Given the description of an element on the screen output the (x, y) to click on. 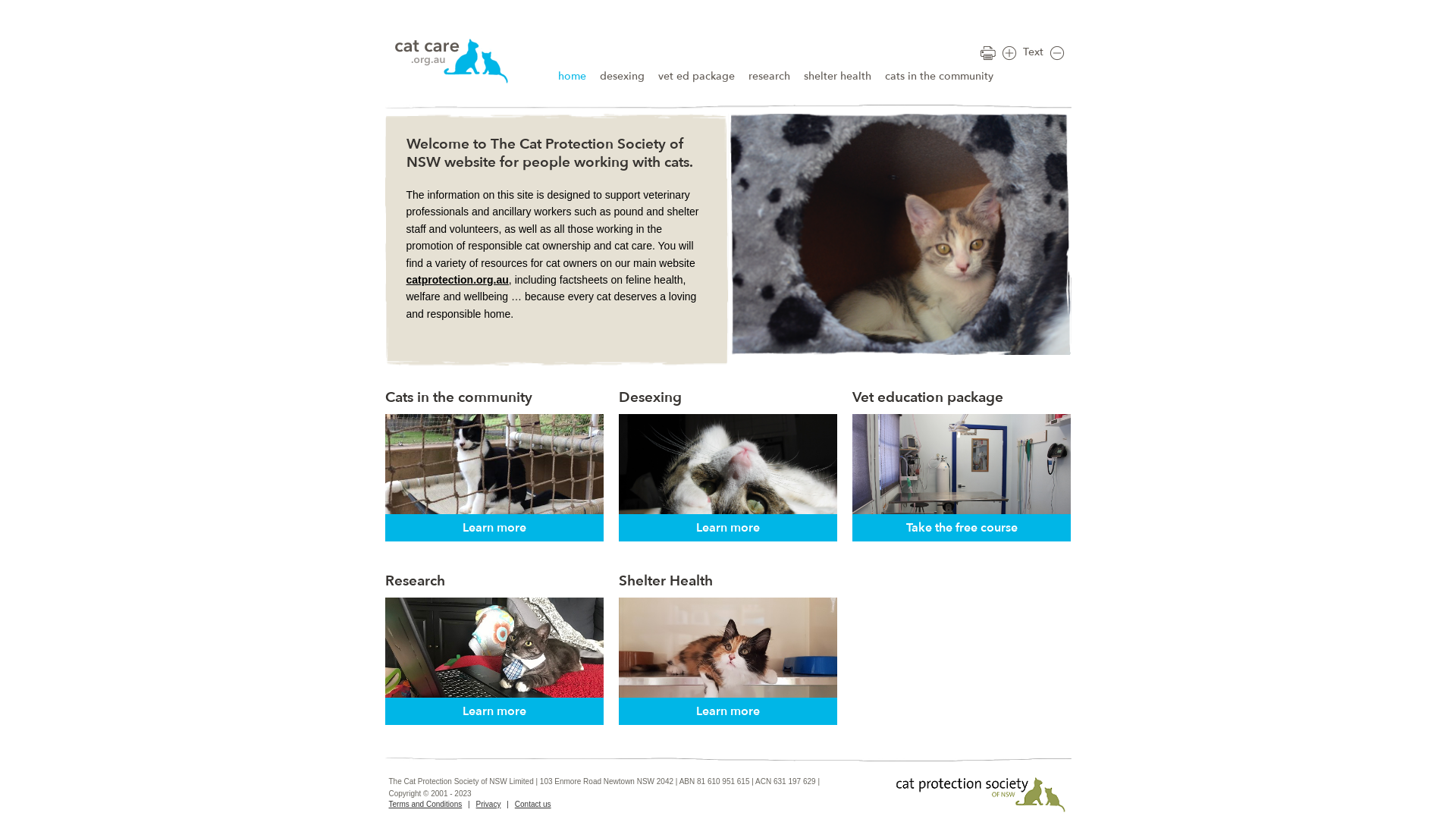
Learn more Element type: text (727, 527)
research Element type: text (769, 76)
Take the free course Element type: text (961, 527)
Learn more Element type: text (494, 710)
desexing Element type: text (622, 76)
cats in the community Element type: text (939, 76)
Contact us Element type: text (532, 804)
catprotection.org.au Element type: text (457, 279)
Learn more Element type: text (494, 527)
Learn more Element type: text (727, 710)
Terms and Conditions Element type: text (424, 804)
Privacy Element type: text (488, 804)
home Element type: text (572, 76)
vet ed package Element type: text (696, 76)
shelter health Element type: text (837, 76)
